Given the description of an element on the screen output the (x, y) to click on. 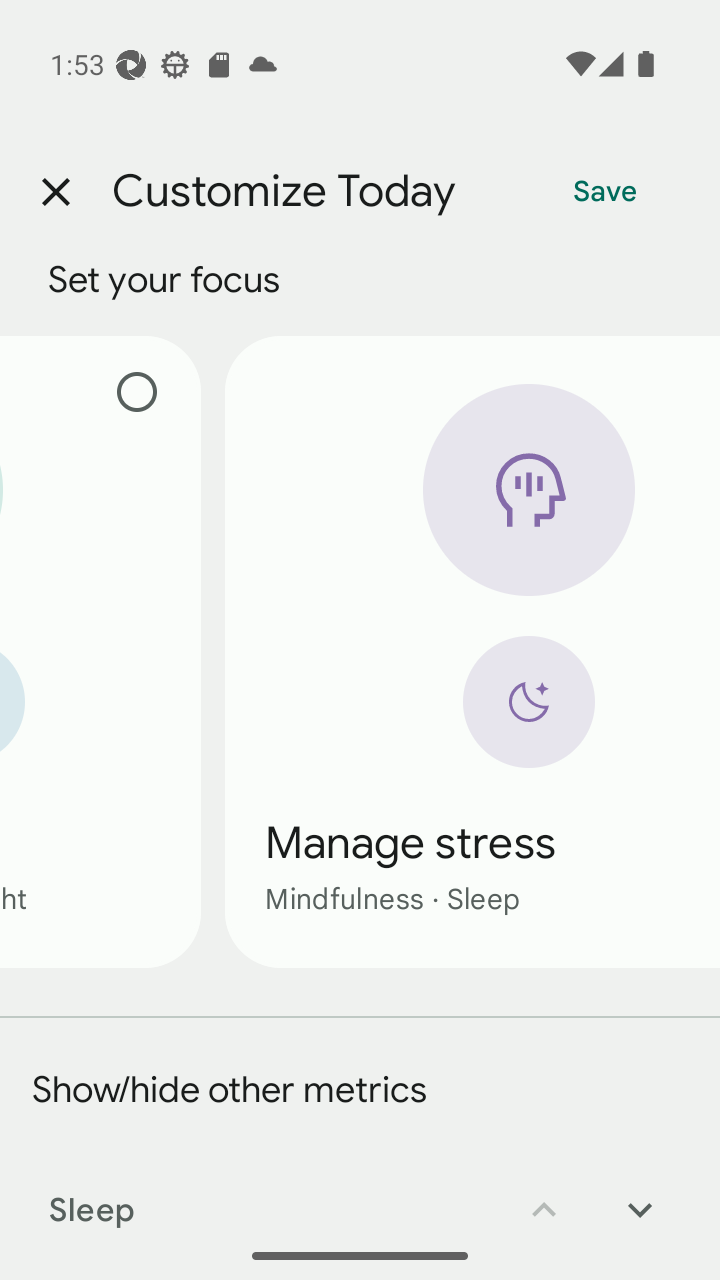
Close (55, 191)
Save (605, 191)
Manage stress Mindfulness · Sleep (472, 651)
Move Sleep up (543, 1196)
Move Sleep down (639, 1196)
